Given the description of an element on the screen output the (x, y) to click on. 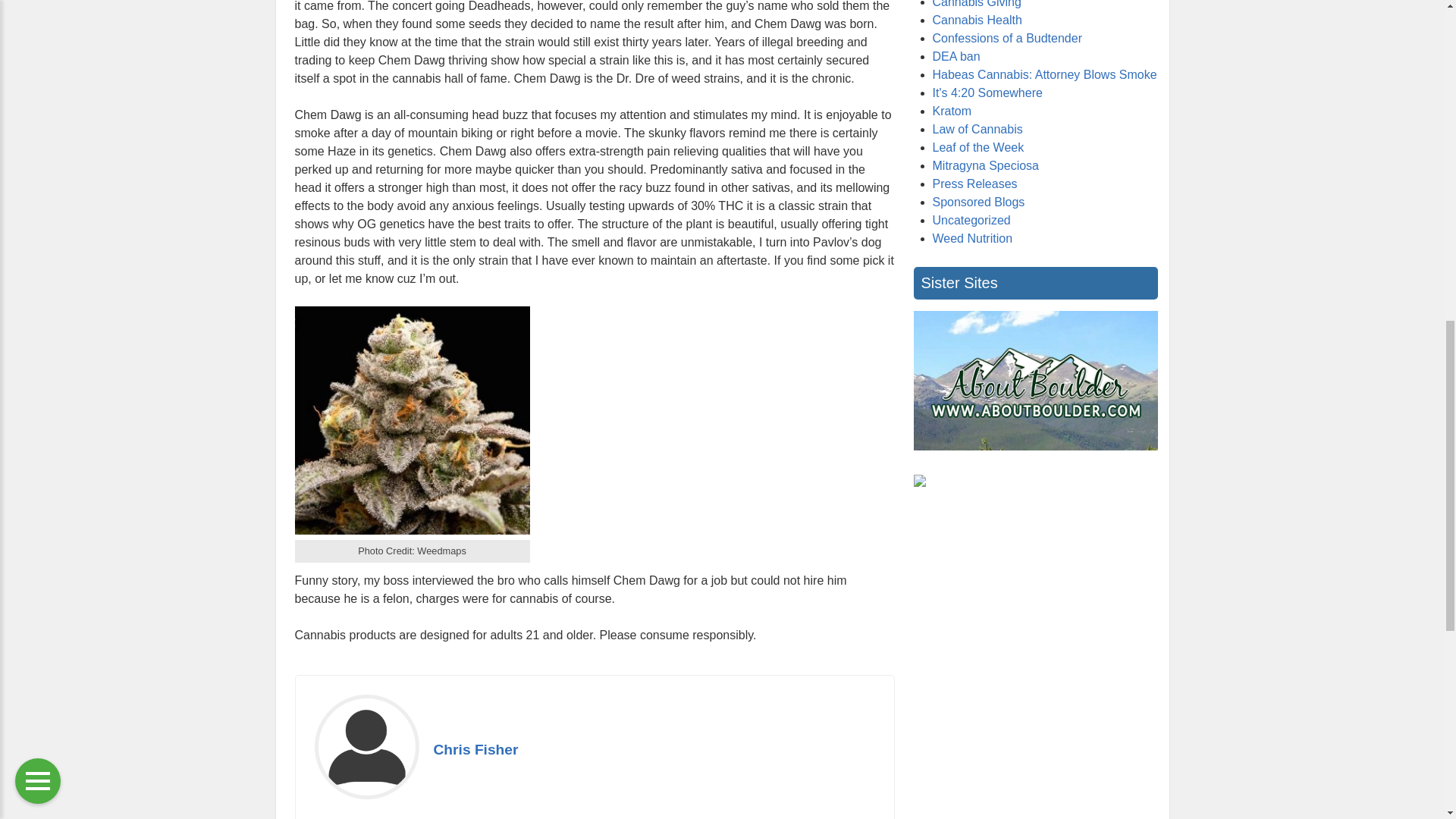
Chris Fisher (475, 749)
